Given the description of an element on the screen output the (x, y) to click on. 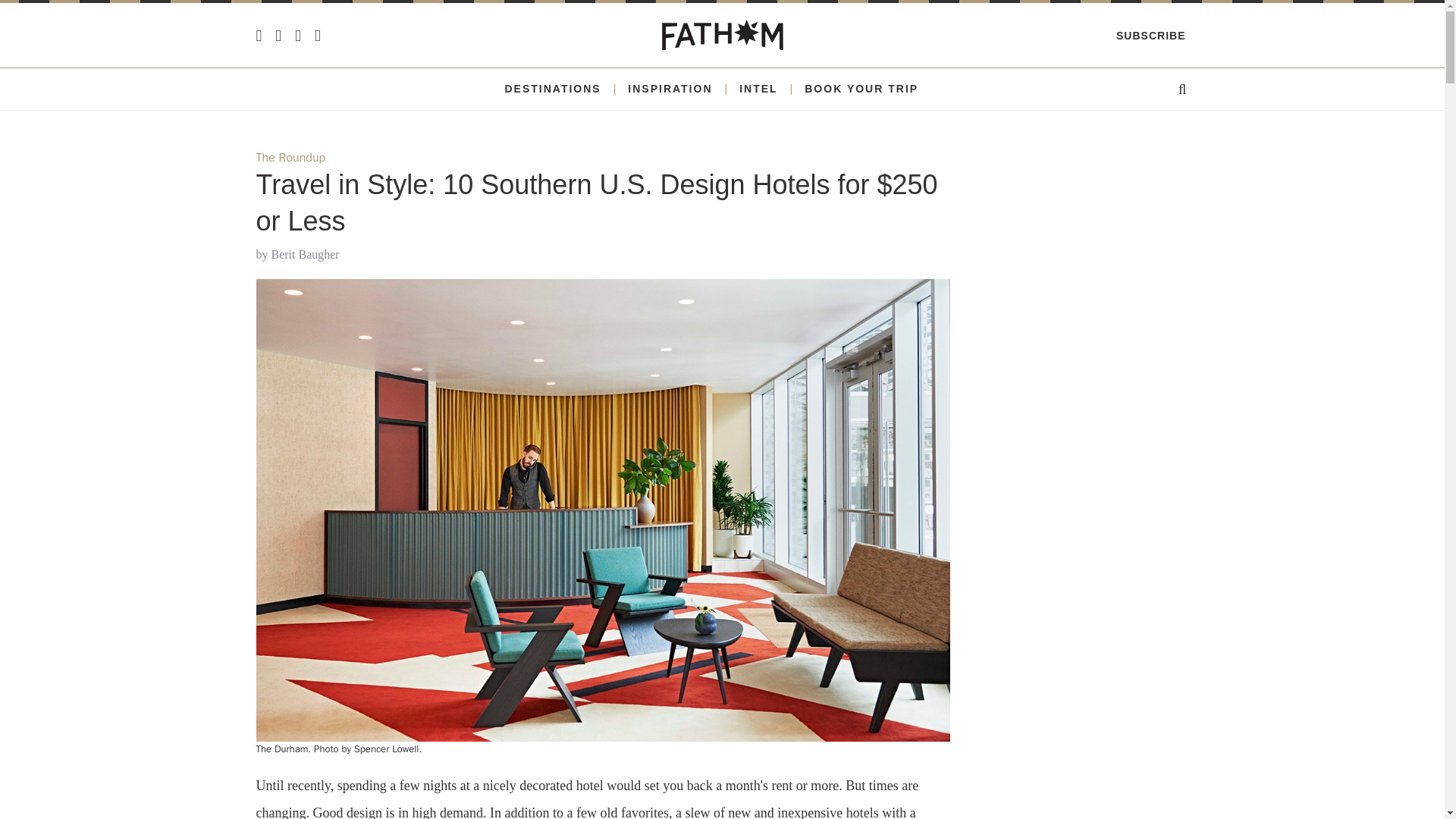
INSPIRATION (669, 89)
INTEL (758, 89)
BOOK YOUR TRIP (861, 89)
SUBSCRIBE (1150, 34)
Berit Baugher (304, 254)
DESTINATIONS (551, 89)
The Roundup (291, 157)
